Given the description of an element on the screen output the (x, y) to click on. 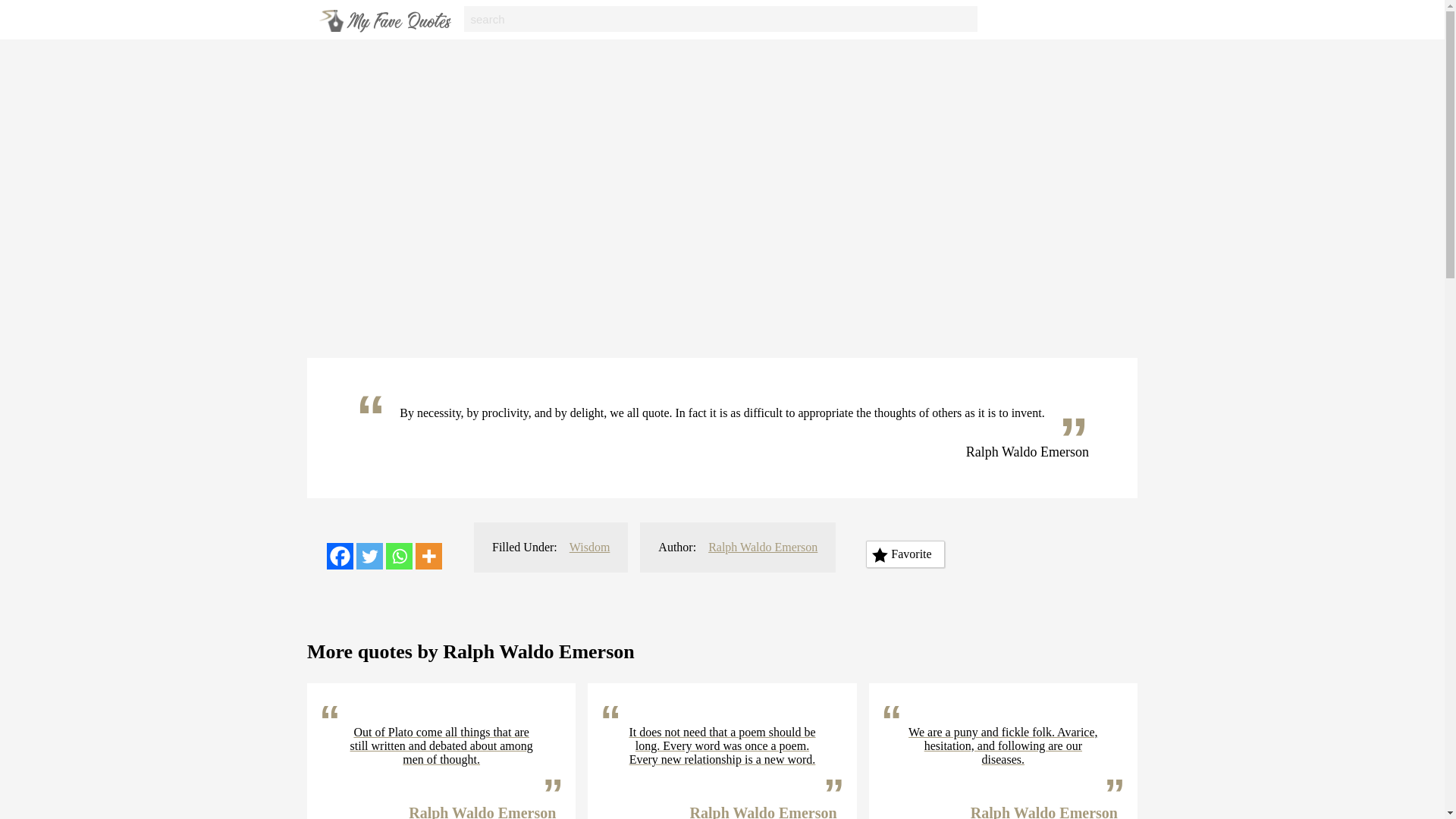
Whatsapp (398, 555)
More (428, 555)
Ralph Waldo Emerson (763, 811)
Ralph Waldo Emerson (1044, 811)
Facebook (339, 555)
Wisdom (589, 546)
Ralph Waldo Emerson (482, 811)
Ralph Waldo Emerson (761, 546)
Twitter (369, 555)
